Given the description of an element on the screen output the (x, y) to click on. 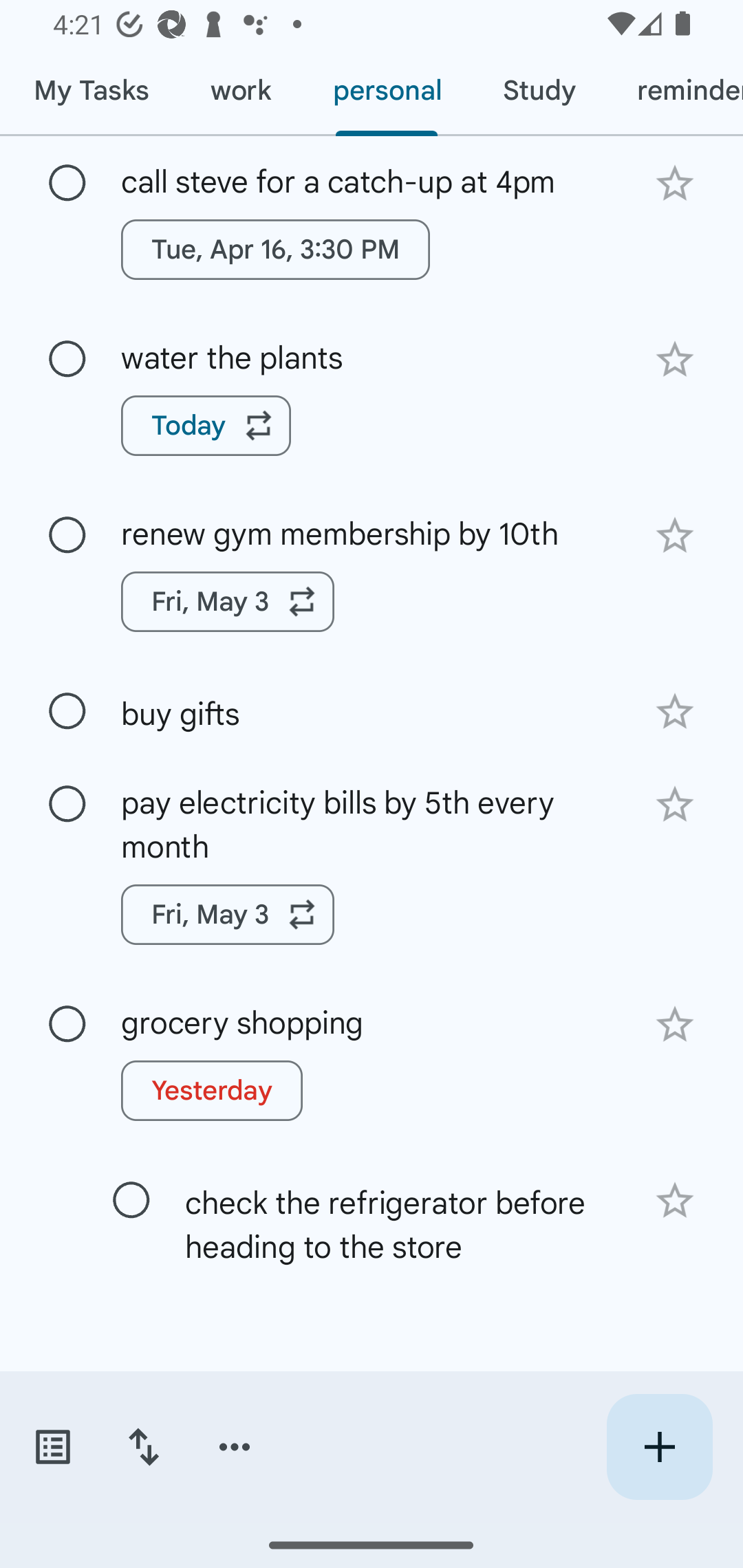
My Tasks (90, 90)
work (240, 90)
Study (538, 90)
reminders (674, 90)
Add star (674, 182)
Mark as complete (67, 183)
Tue, Apr 16, 3:30 PM (275, 248)
Add star (674, 358)
Mark as complete (67, 359)
Today (206, 425)
Add star (674, 535)
Mark as complete (67, 535)
Fri, May 3 (227, 601)
buy gifts buy gifts Add star Mark as complete (371, 710)
Add star (674, 711)
Mark as complete (67, 710)
Add star (674, 803)
Mark as complete (67, 804)
Fri, May 3 (227, 913)
Add star (674, 1024)
Mark as complete (67, 1024)
Yesterday (211, 1090)
Add star (674, 1200)
Mark as complete (131, 1200)
Switch task lists (52, 1447)
Create new task (659, 1446)
Change sort order (143, 1446)
More options (234, 1446)
